Given the description of an element on the screen output the (x, y) to click on. 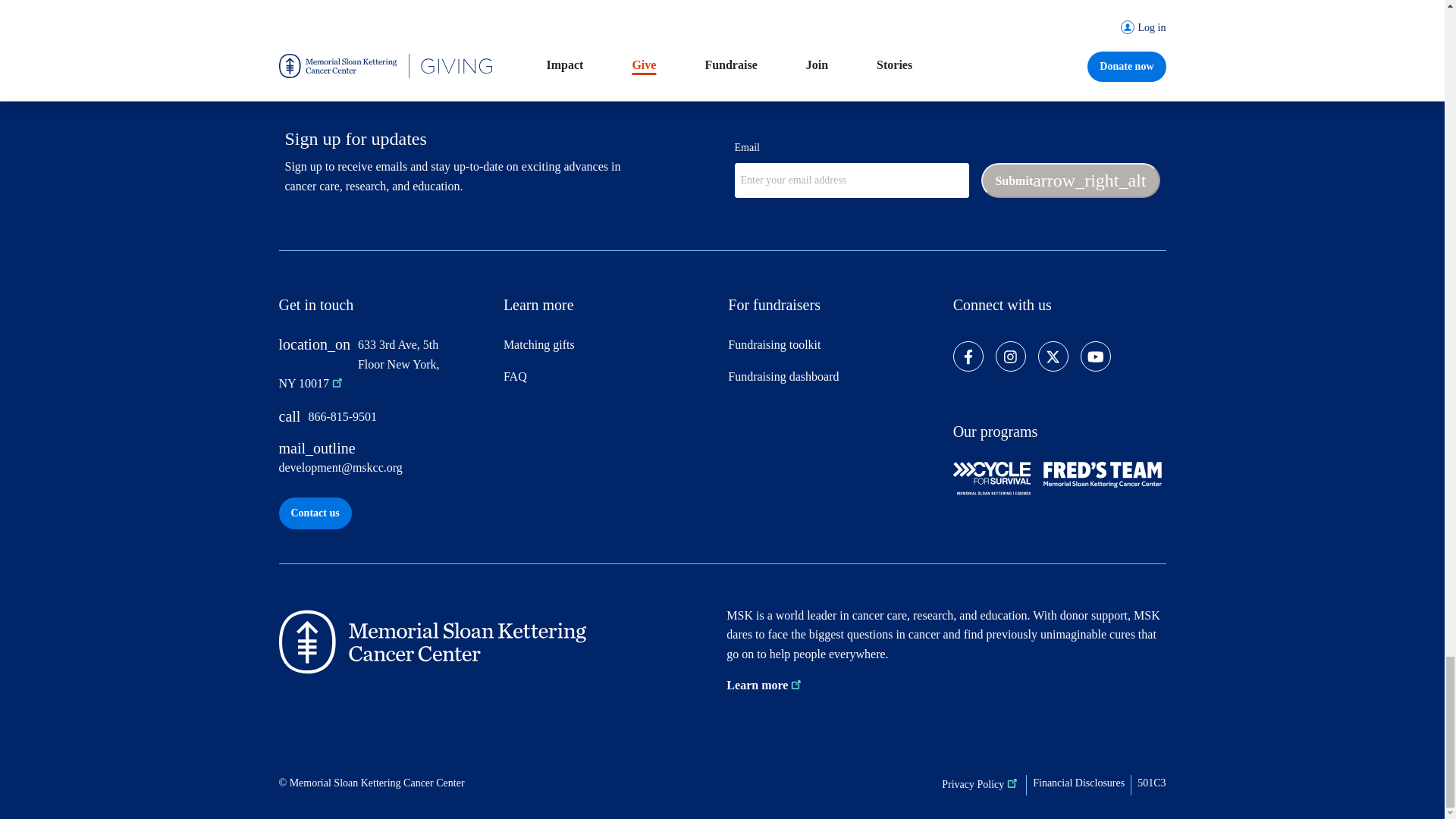
Fundraising dashboard (834, 382)
Contact us (315, 513)
MSK Giving mailing address (370, 370)
Fundraising toolkit (834, 350)
Matching gifts (609, 350)
FAQ (609, 382)
MSK Giving phone number (385, 422)
Give Monthly (357, 6)
866-815-9501 (385, 422)
Answers to the most Frequently Asked Questions. (609, 382)
Contact us with questions (315, 513)
MSK Giving email address (385, 463)
Read More (793, 6)
